Given the description of an element on the screen output the (x, y) to click on. 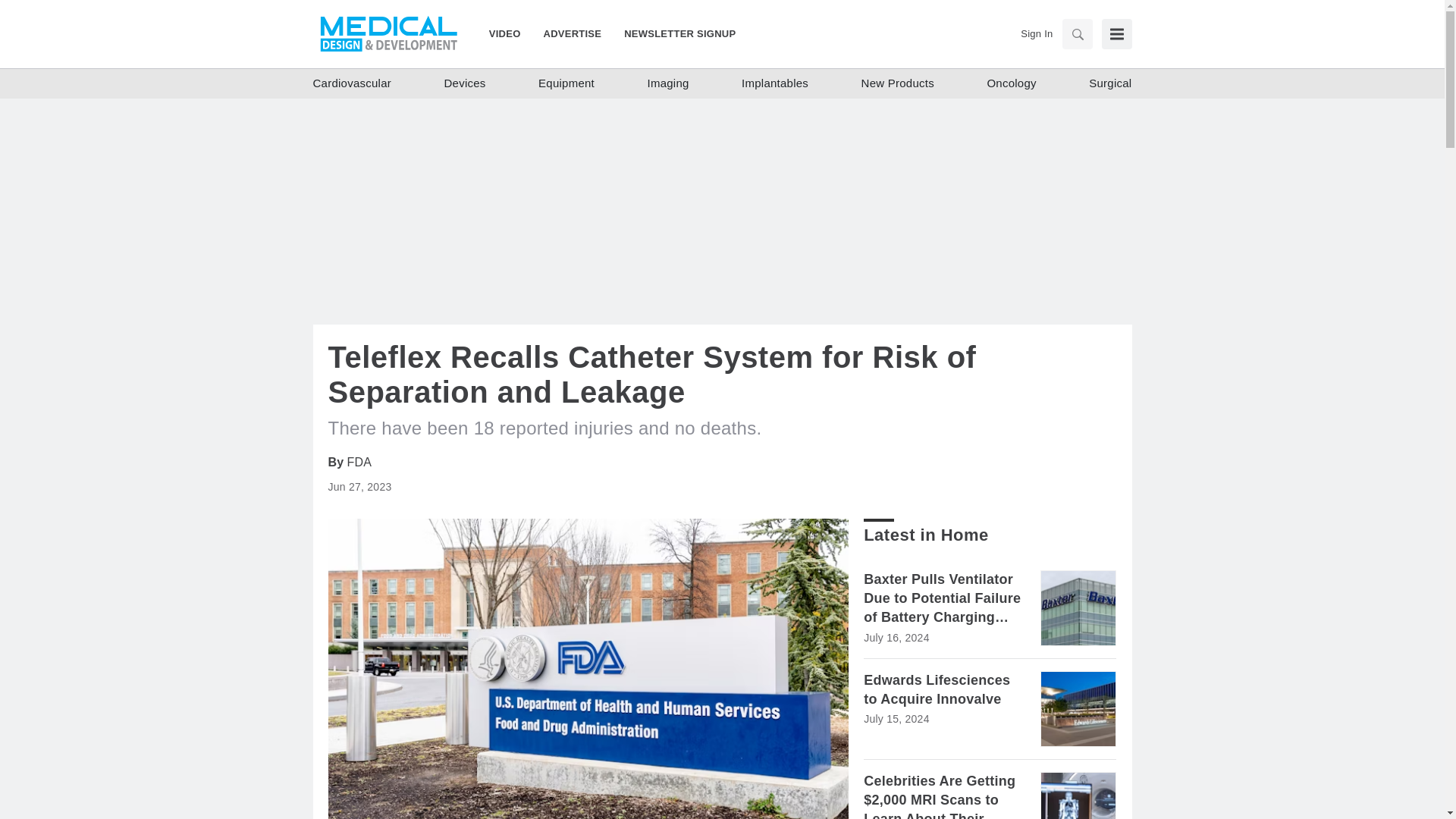
Oncology (1011, 83)
Surgical (1110, 83)
Implantables (774, 83)
Equipment (566, 83)
Devices (465, 83)
New Products (897, 83)
VIDEO (510, 33)
NEWSLETTER SIGNUP (673, 33)
Cardiovascular (352, 83)
Sign In (1036, 33)
ADVERTISE (572, 33)
Imaging (667, 83)
